Given the description of an element on the screen output the (x, y) to click on. 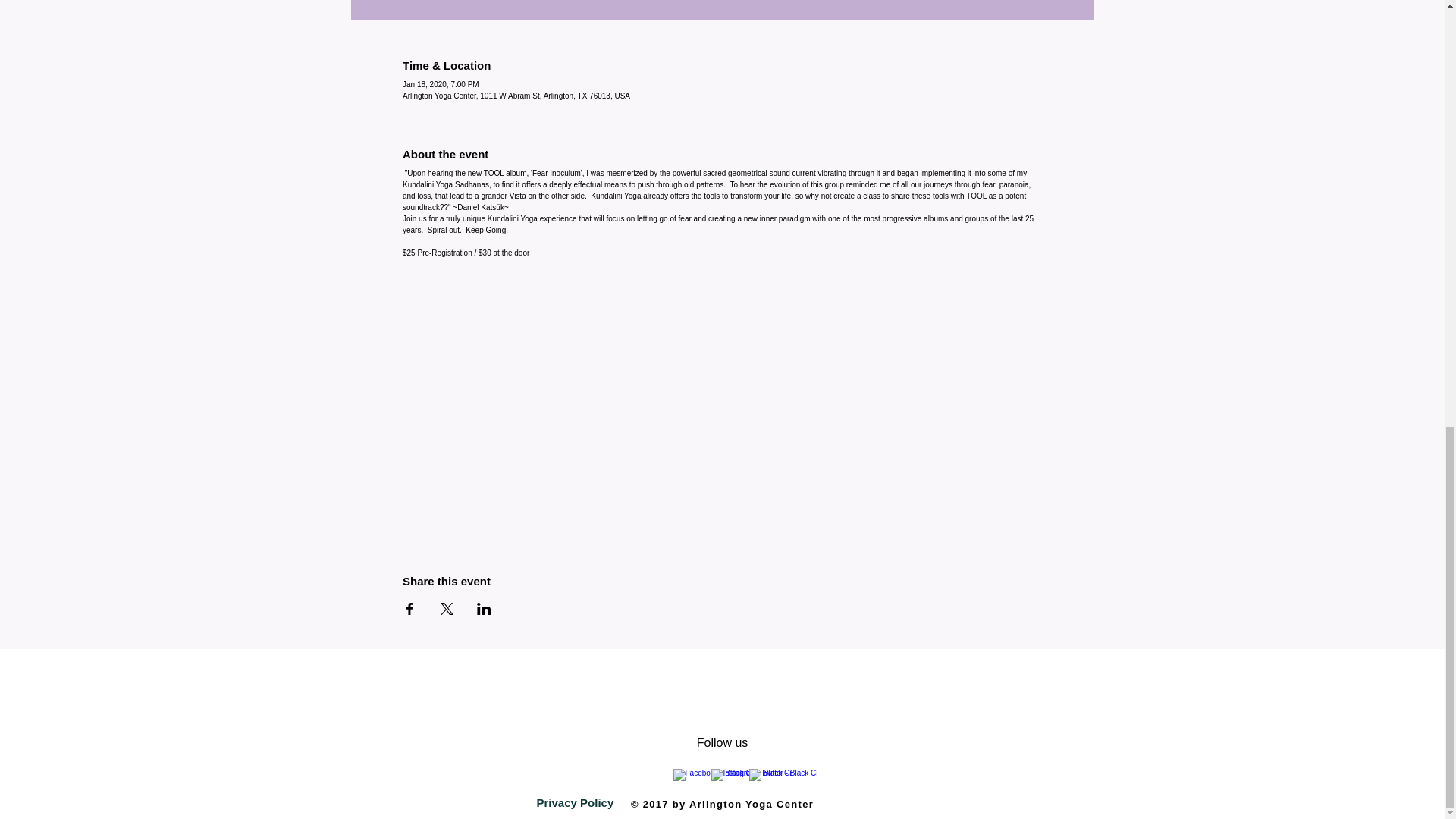
Privacy Policy (575, 802)
